Given the description of an element on the screen output the (x, y) to click on. 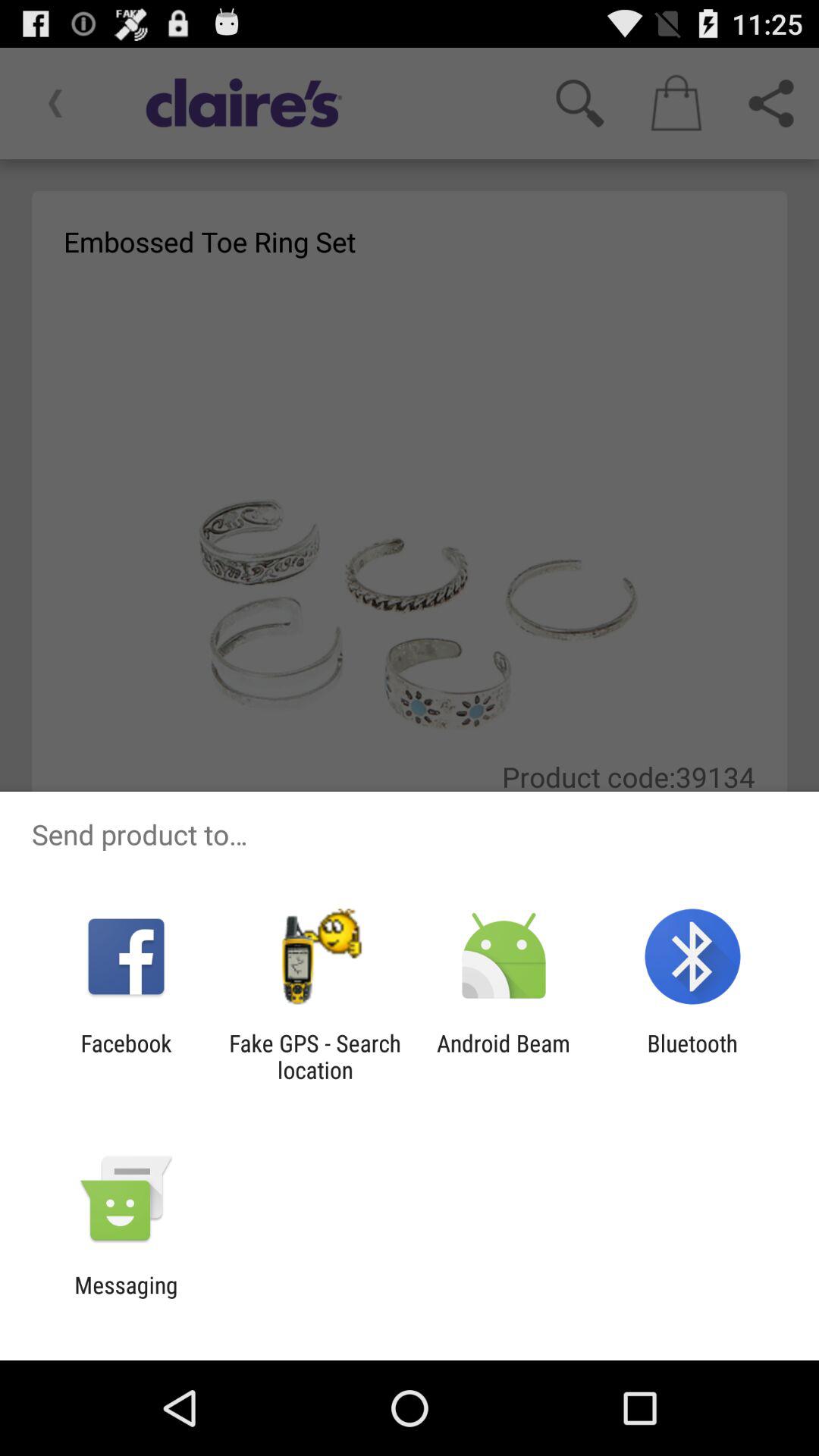
turn off app to the left of bluetooth (503, 1056)
